Given the description of an element on the screen output the (x, y) to click on. 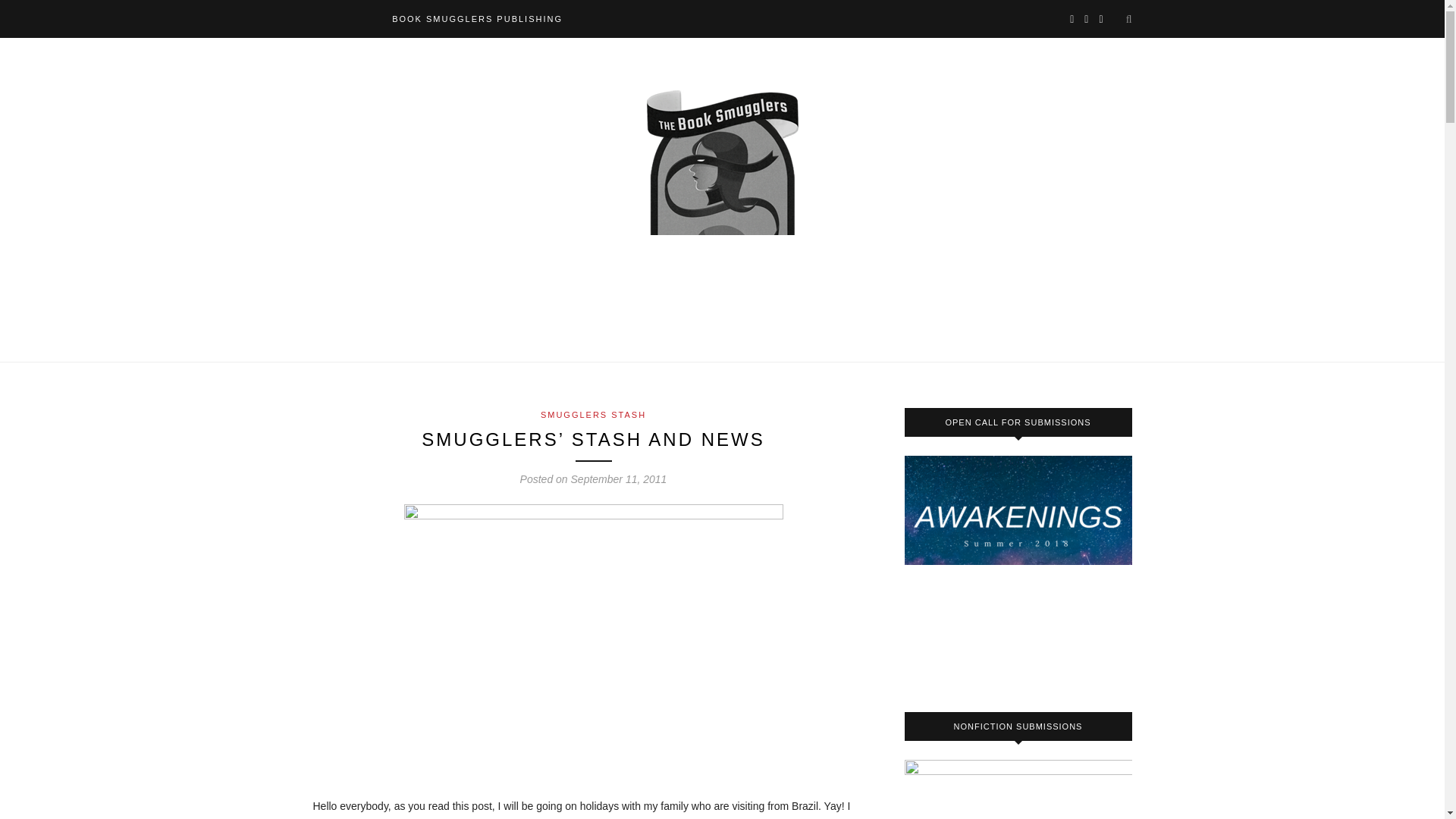
BOOK SMUGGLERS PUBLISHING (476, 18)
SMUGGLERS STASH (593, 414)
